Given the description of an element on the screen output the (x, y) to click on. 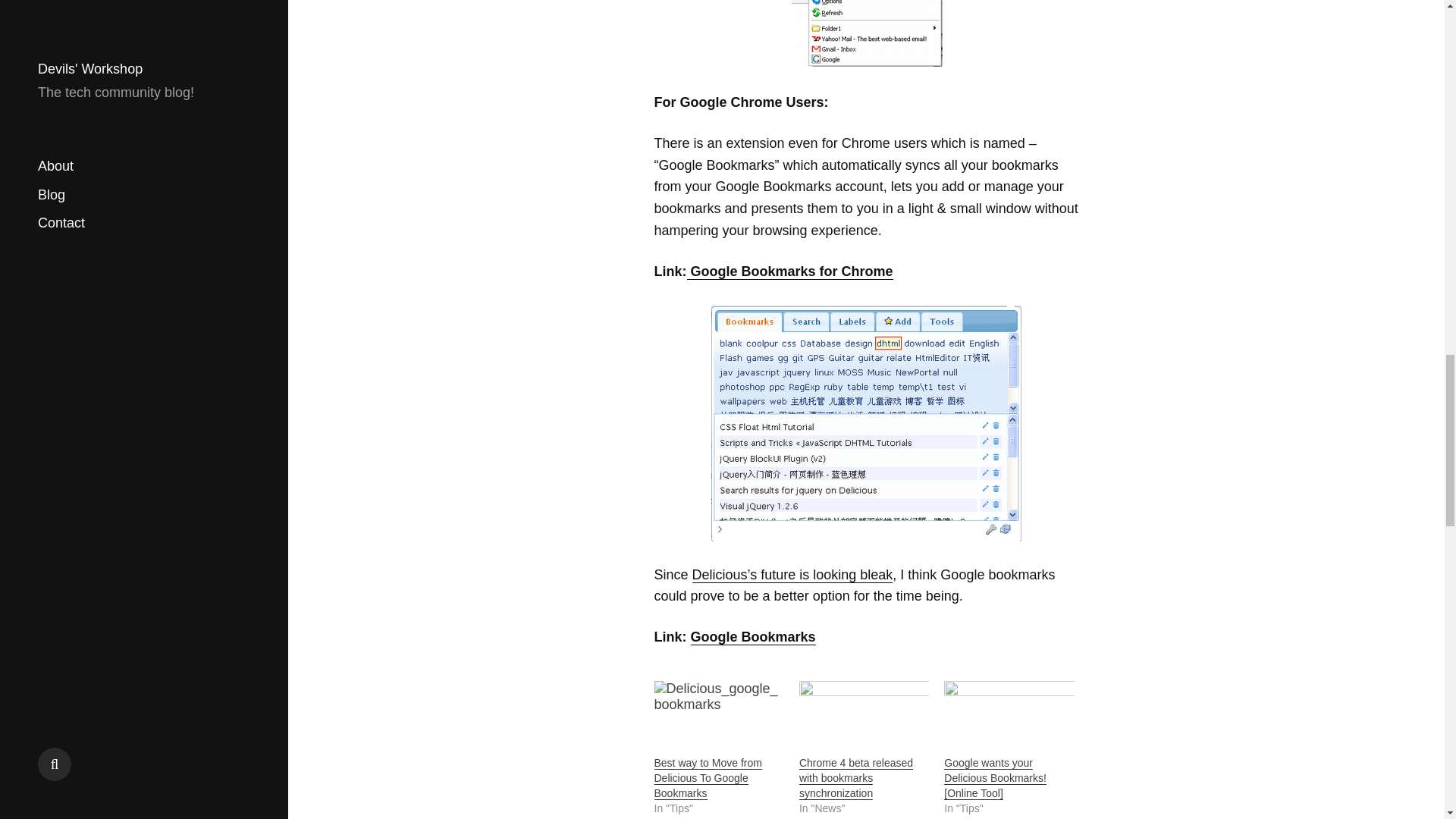
Best way to Move from Delicious To Google Bookmarks (707, 778)
Google Bookmarks for Chrome (866, 423)
Chrome 4 beta released with bookmarks synchronization (855, 778)
Google Bookmarks for Chrome (790, 271)
Google Bookmarks Menu (866, 34)
Chrome 4 beta released with bookmarks synchronization (863, 717)
Best way to Move from Delicious To Google Bookmarks (707, 778)
Best way to Move from Delicious To Google Bookmarks (718, 717)
Google Bookmarks (752, 637)
Chrome 4 beta released with bookmarks synchronization (855, 778)
